Given the description of an element on the screen output the (x, y) to click on. 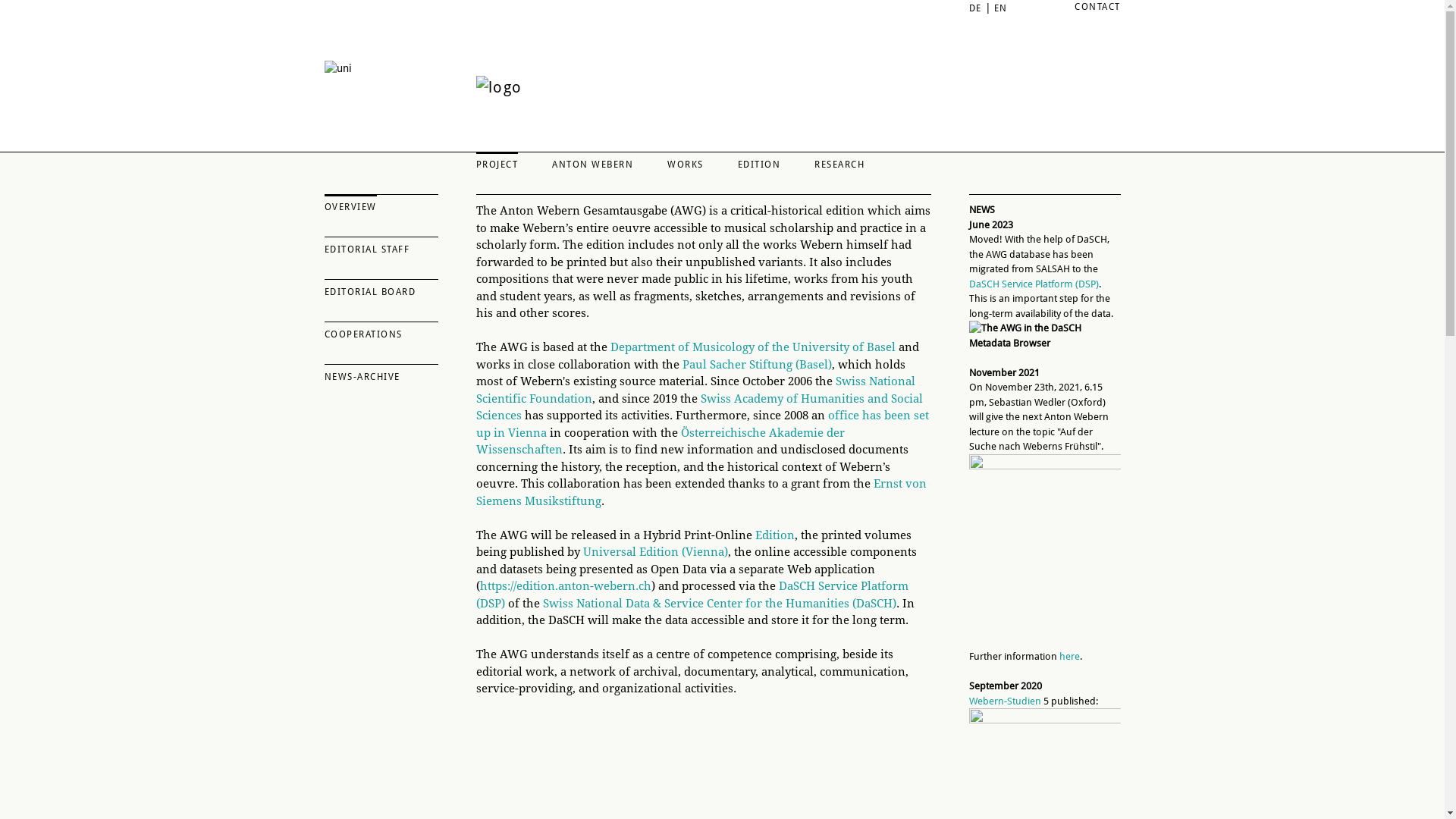
EDITORIAL STAFF Element type: text (381, 246)
DaSCH Service Platform (DSP) Element type: text (692, 594)
office has been set up in Vienna Element type: text (702, 423)
Swiss Academy of Humanities and Social Sciences Element type: text (699, 406)
NEWS-ARCHIVE Element type: text (381, 373)
Universal Edition (Vienna) Element type: text (654, 551)
EN Element type: text (1000, 8)
DE Element type: text (975, 8)
Ernst von Siemens Musikstiftung Element type: text (701, 492)
OVERVIEW Element type: text (381, 203)
WORKS Element type: text (685, 161)
COOPERATIONS Element type: text (381, 331)
CONTACT Element type: text (1097, 6)
https://edition.anton-webern.ch Element type: text (564, 586)
EDITORIAL BOARD Element type: text (381, 288)
here Element type: text (1068, 656)
Swiss National Scientific Foundation Element type: text (695, 389)
PROJECT Element type: text (497, 161)
RESEARCH Element type: text (839, 161)
DaSCH Service Platform (DSP) Element type: text (1033, 282)
EDITION Element type: text (758, 161)
ANTON WEBERN Element type: text (592, 161)
Paul Sacher Stiftung (Basel) Element type: text (756, 364)
Edition Element type: text (774, 534)
Webern-Studien Element type: text (1005, 700)
Department of Musicology of the University of Basel Element type: text (751, 347)
